Given the description of an element on the screen output the (x, y) to click on. 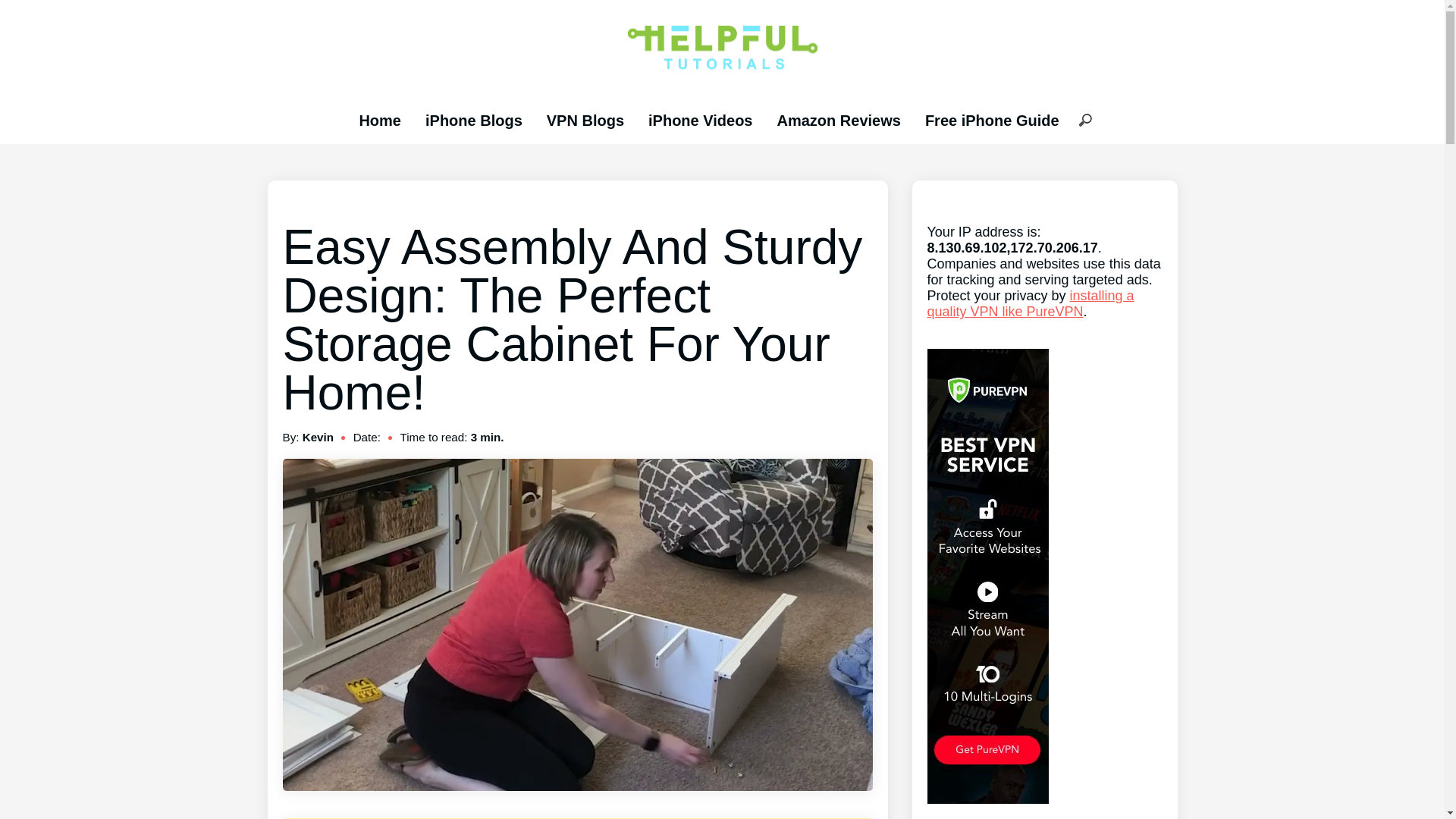
iPhone Blogs (473, 120)
installing a quality VPN like PureVPN (1030, 303)
Home (379, 120)
Free iPhone Guide (991, 120)
Search for: (1084, 120)
iPhone Videos (699, 120)
VPN Blogs (585, 120)
Amazon Reviews (837, 120)
